Given the description of an element on the screen output the (x, y) to click on. 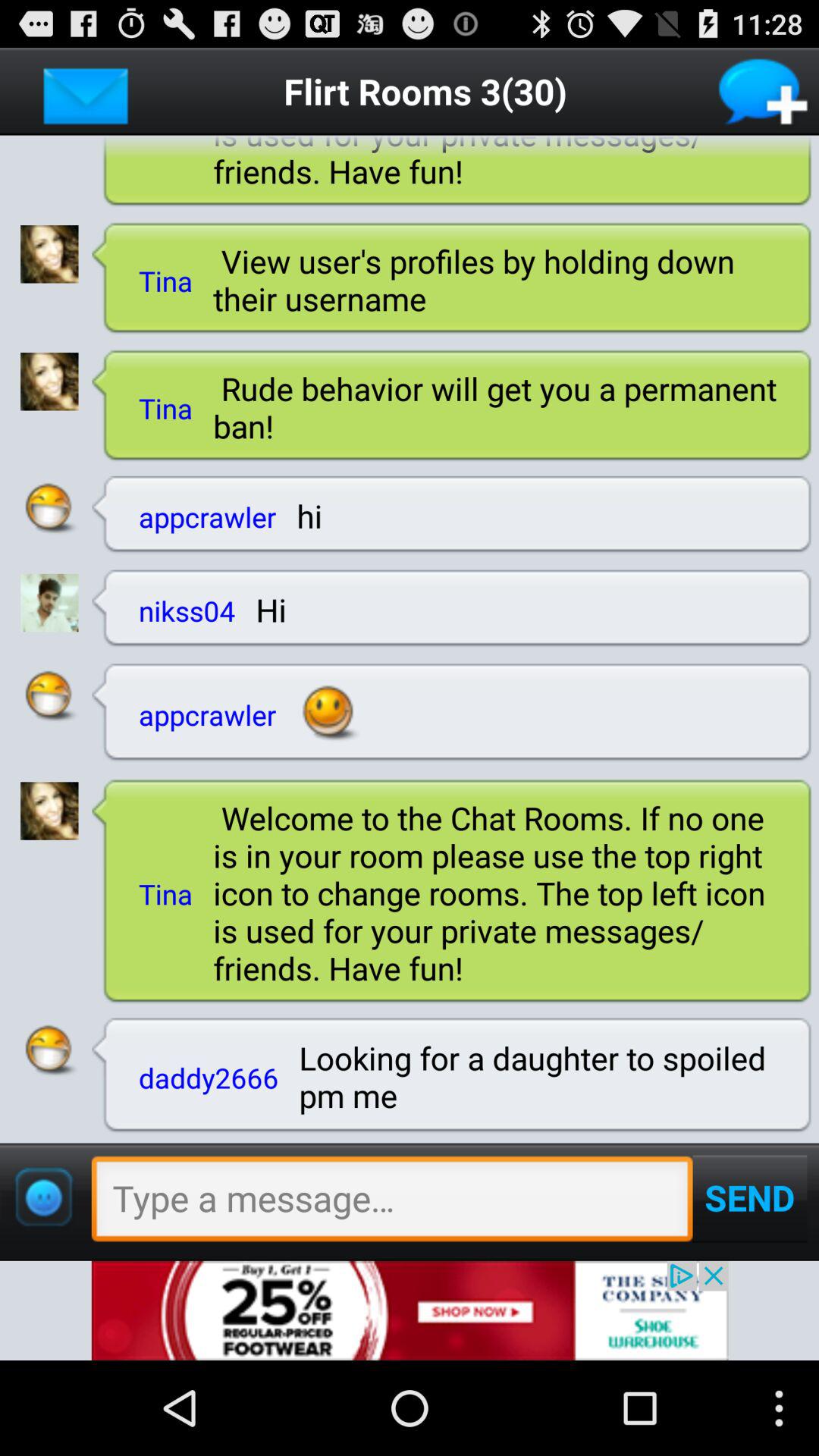
enter your response (391, 1202)
